Given the description of an element on the screen output the (x, y) to click on. 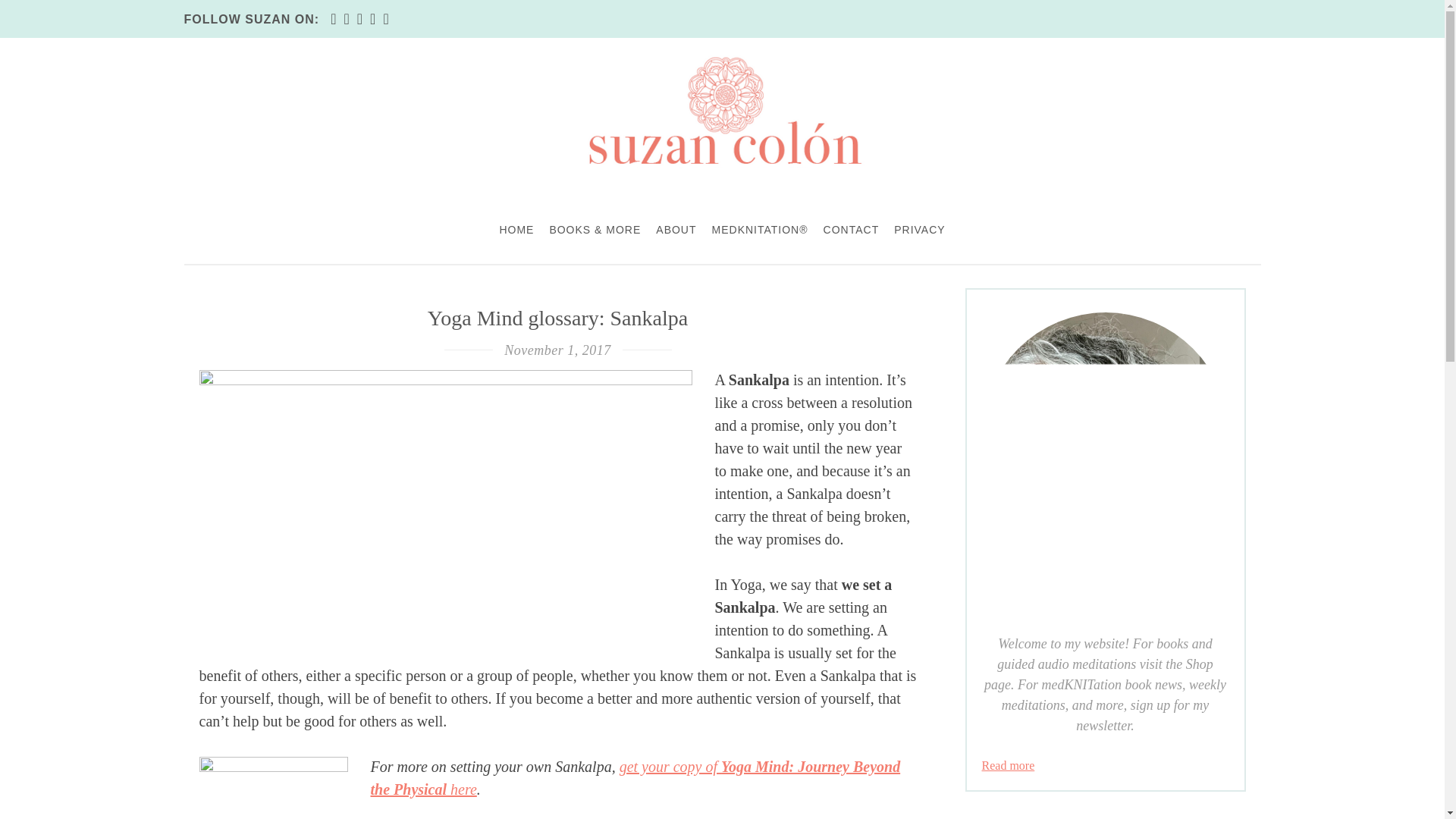
get your copy of Yoga Mind: Journey Beyond the Physical here (634, 777)
HOME (516, 229)
CONTACT (850, 229)
ABOUT (675, 229)
Read more (1007, 765)
PRIVACY (919, 229)
